Given the description of an element on the screen output the (x, y) to click on. 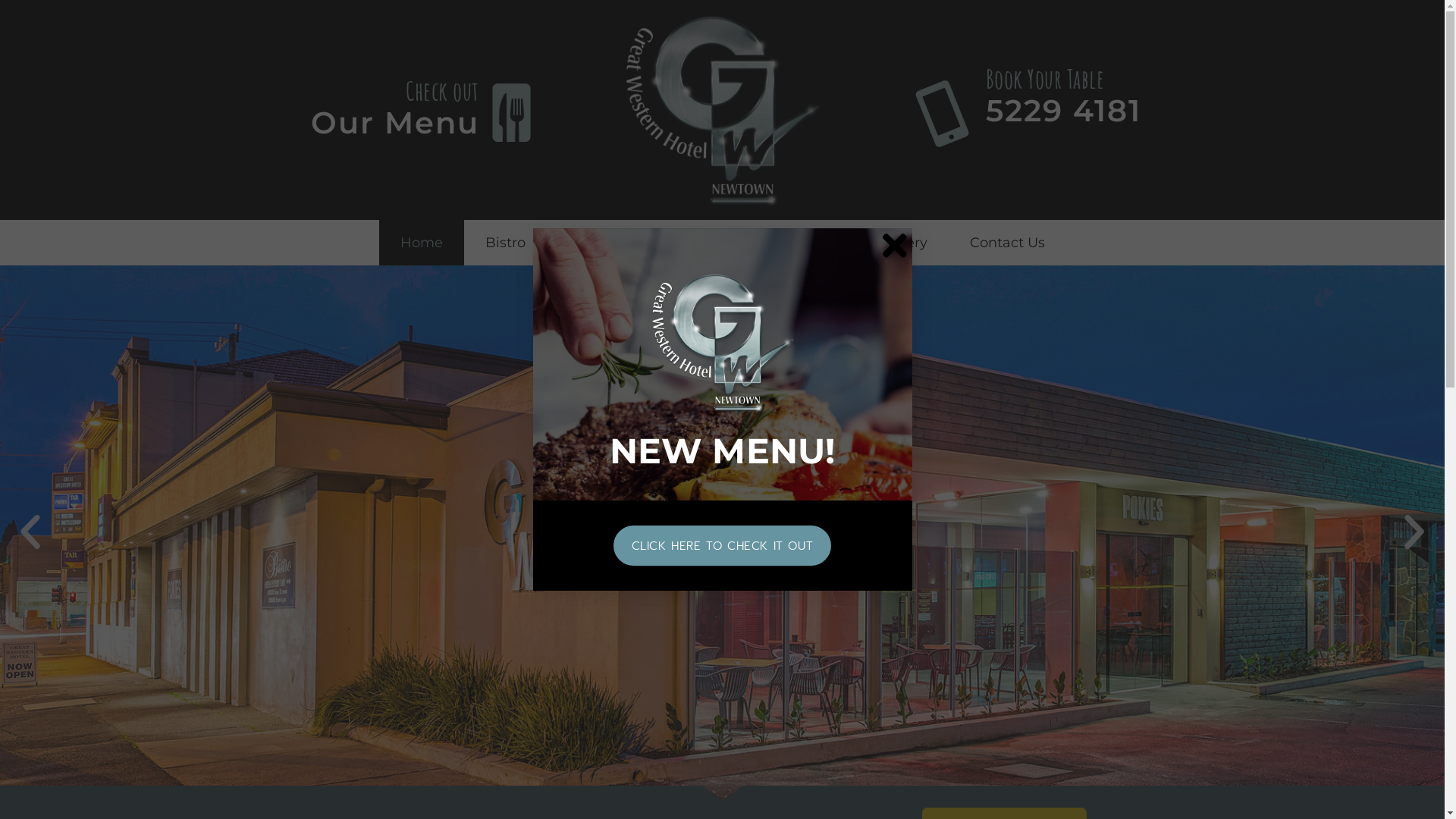
Wine List Element type: text (680, 242)
Menu Element type: text (586, 242)
CLICK HERE TO CHECK IT OUT Element type: text (722, 545)
Bistro Element type: text (505, 242)
Home Element type: text (421, 242)
Contact Us Element type: text (1006, 242)
Gallery Element type: text (903, 242)
Bottle Shop Element type: text (796, 242)
